Given the description of an element on the screen output the (x, y) to click on. 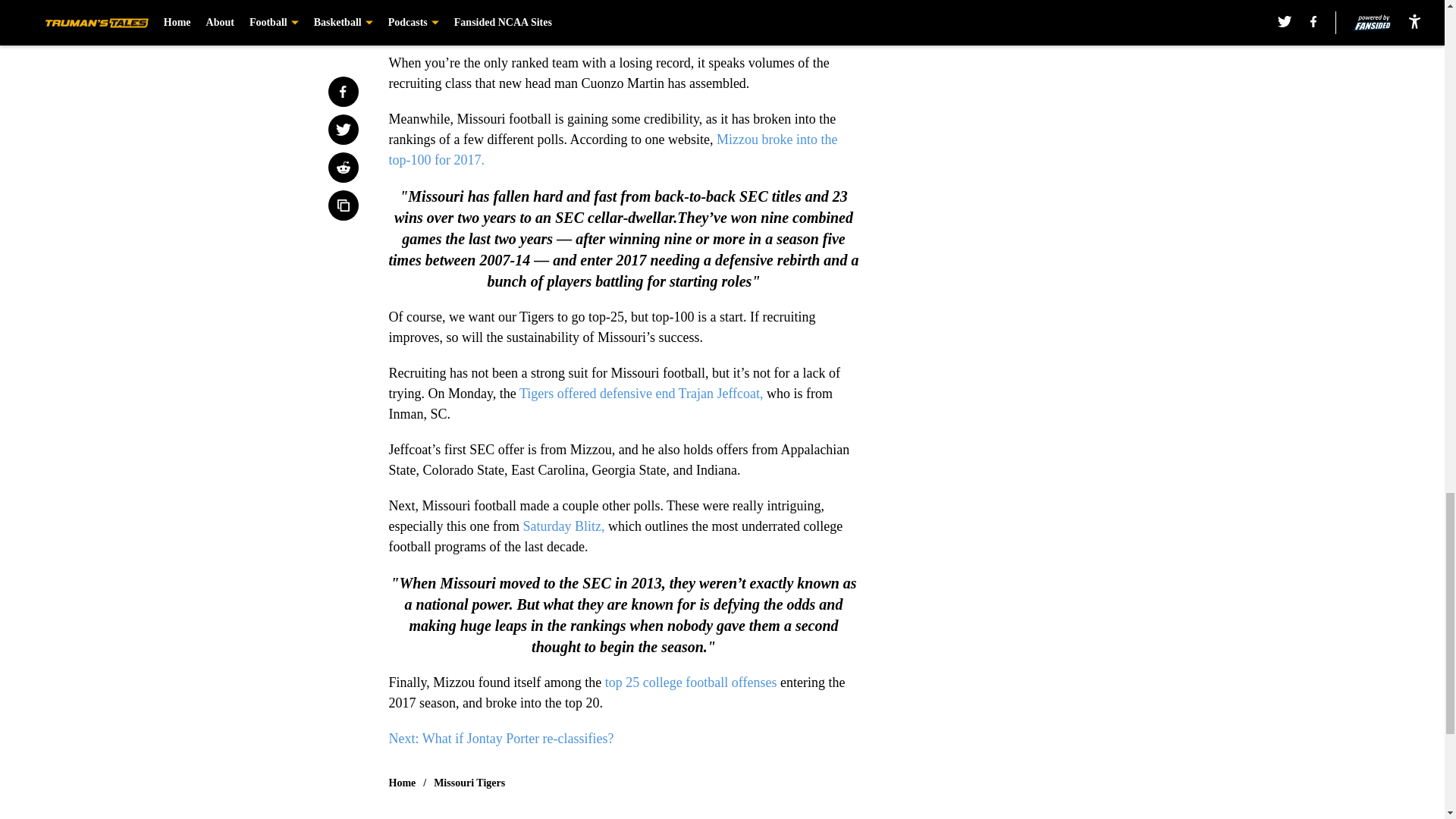
ranked in the top-25 (442, 7)
Mizzou broke into the top-100 for 2017. (612, 149)
top 25 college football offenses (688, 682)
Missouri Tigers (469, 783)
Saturday Blitz, (563, 525)
Next: What if Jontay Porter re-classifies? (500, 738)
Home (401, 783)
Tigers offered defensive end Trajan Jeffcoat, (640, 393)
